Given the description of an element on the screen output the (x, y) to click on. 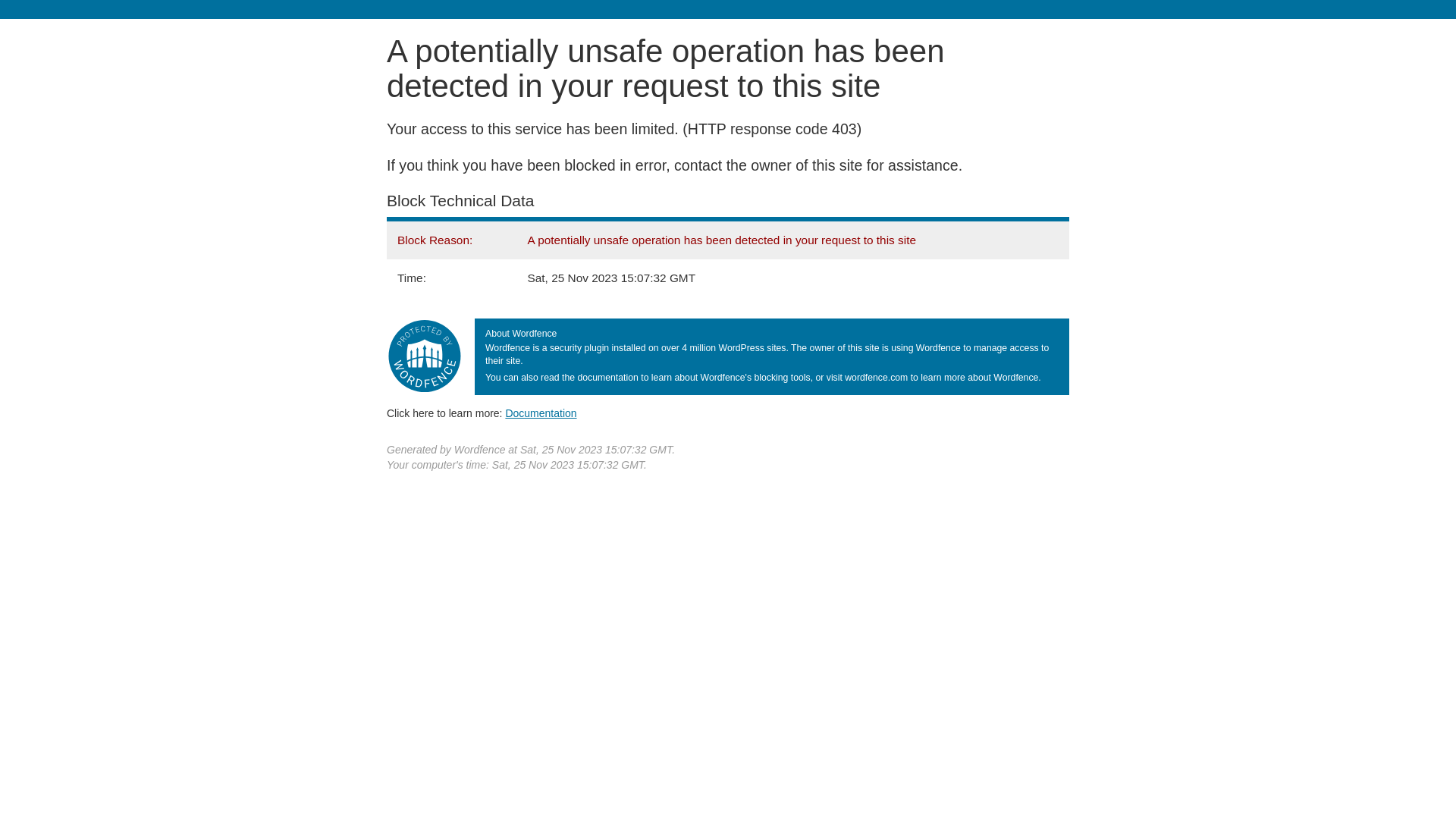
Documentation Element type: text (540, 413)
